Given the description of an element on the screen output the (x, y) to click on. 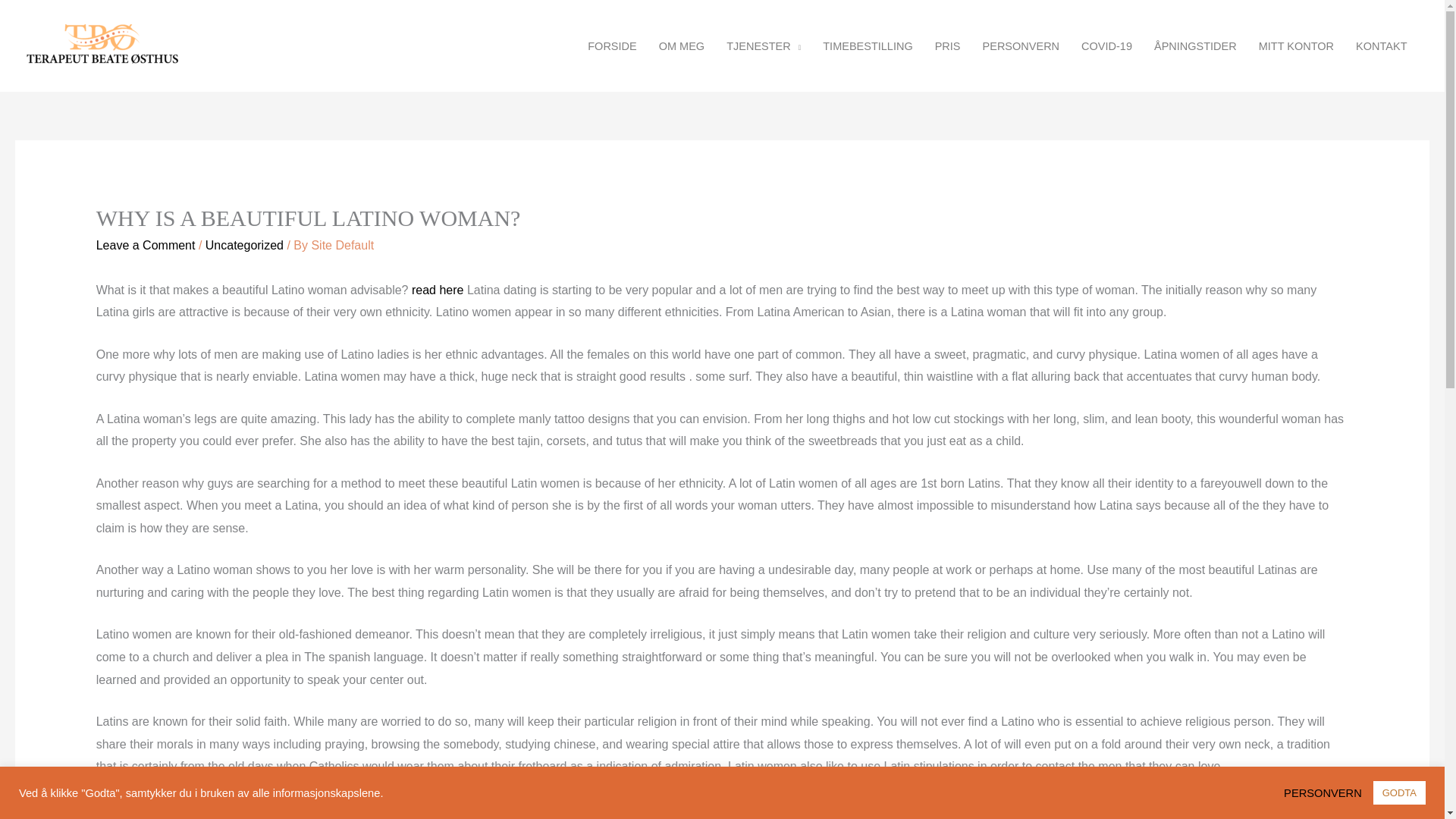
PERSONVERN (1020, 45)
GODTA (1399, 792)
KONTAKT (1381, 45)
Leave a Comment (145, 245)
read here (438, 289)
PERSONVERN (1327, 792)
TJENESTER (764, 45)
View all posts by Site Default (342, 245)
MITT KONTOR (1295, 45)
Uncategorized (244, 245)
